Given the description of an element on the screen output the (x, y) to click on. 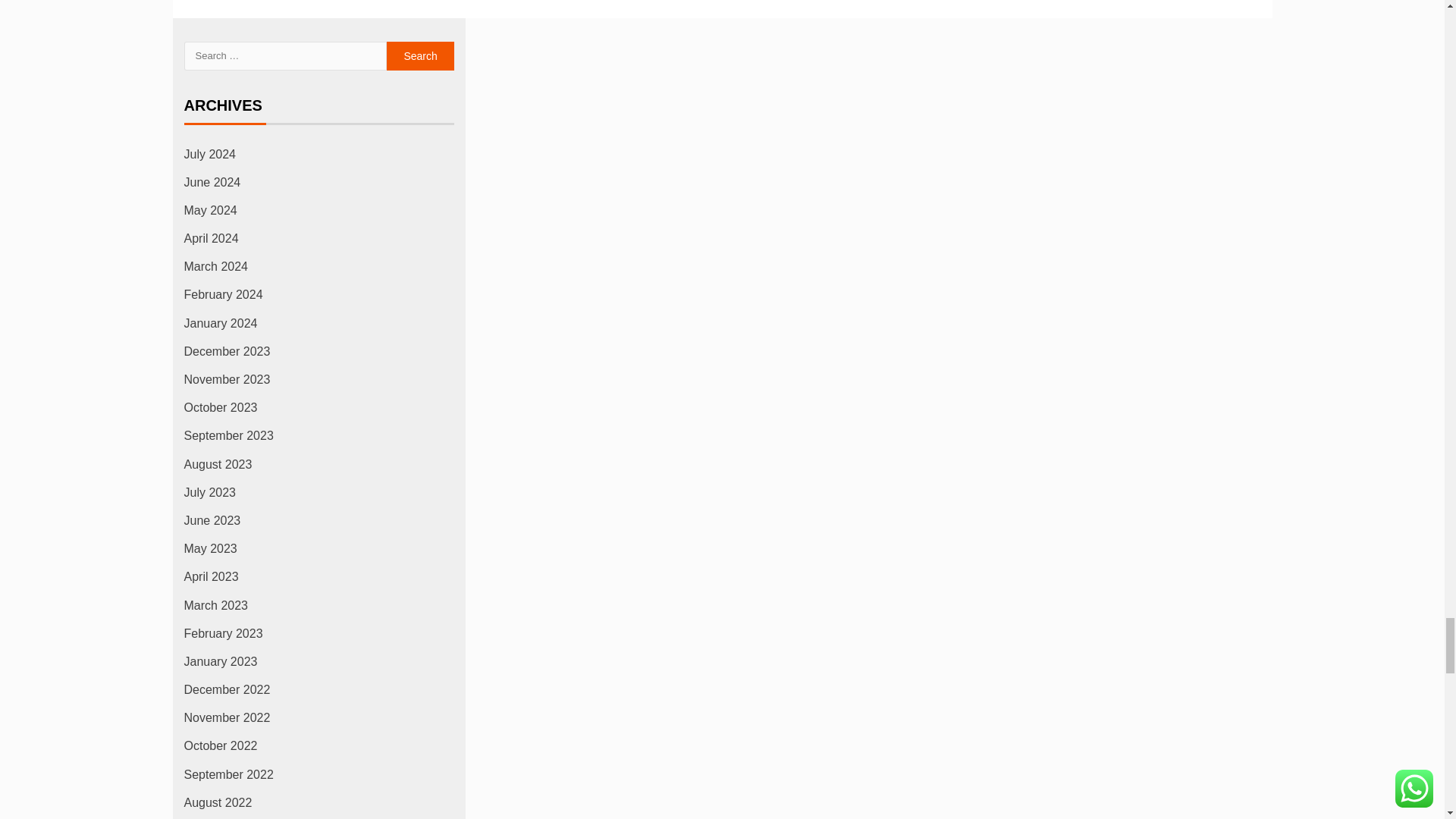
Search (420, 55)
April 2024 (210, 237)
Search (420, 55)
June 2024 (211, 182)
Search (420, 55)
May 2024 (209, 210)
July 2024 (209, 154)
